Given the description of an element on the screen output the (x, y) to click on. 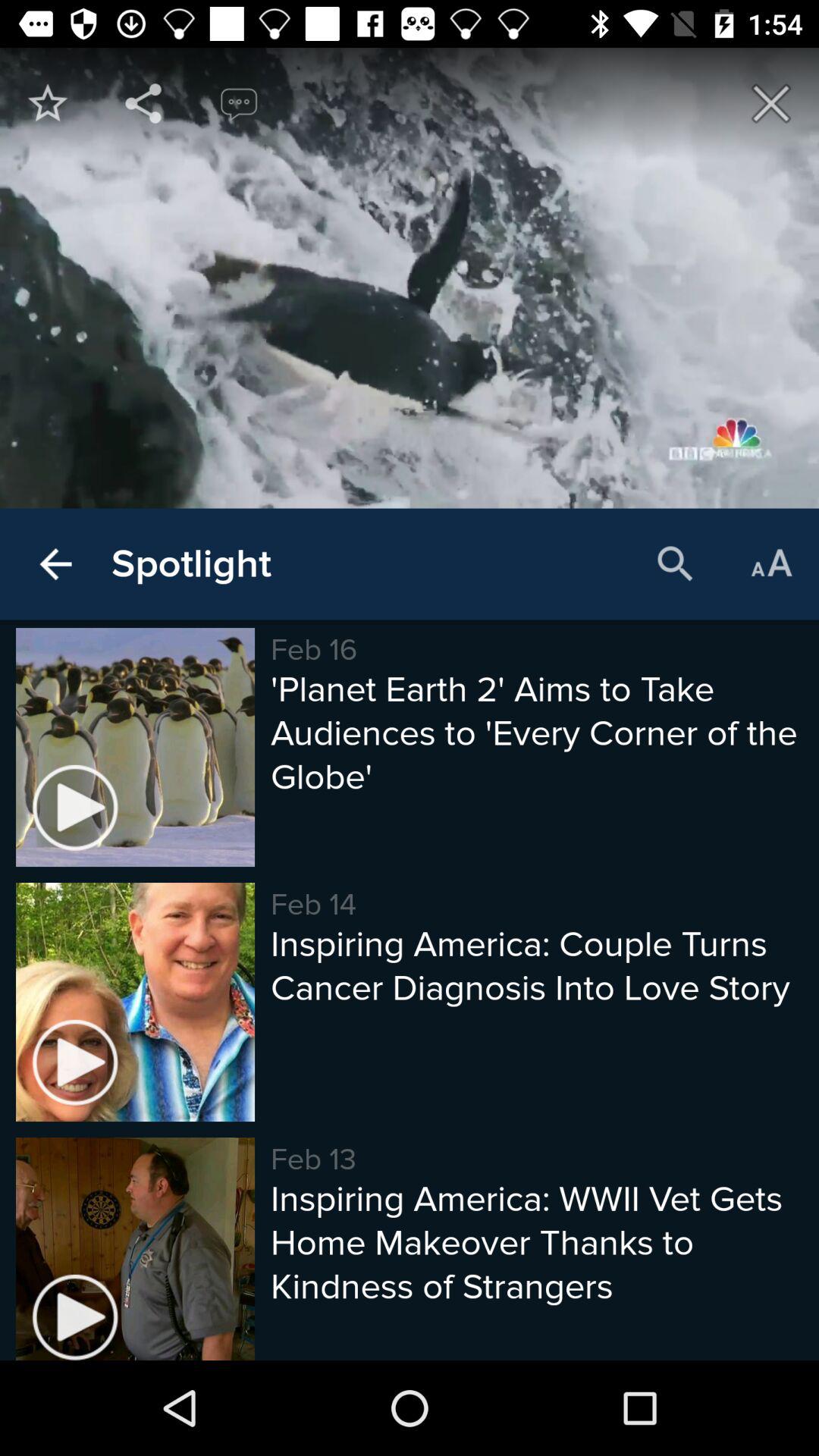
exit botton (771, 103)
